Given the description of an element on the screen output the (x, y) to click on. 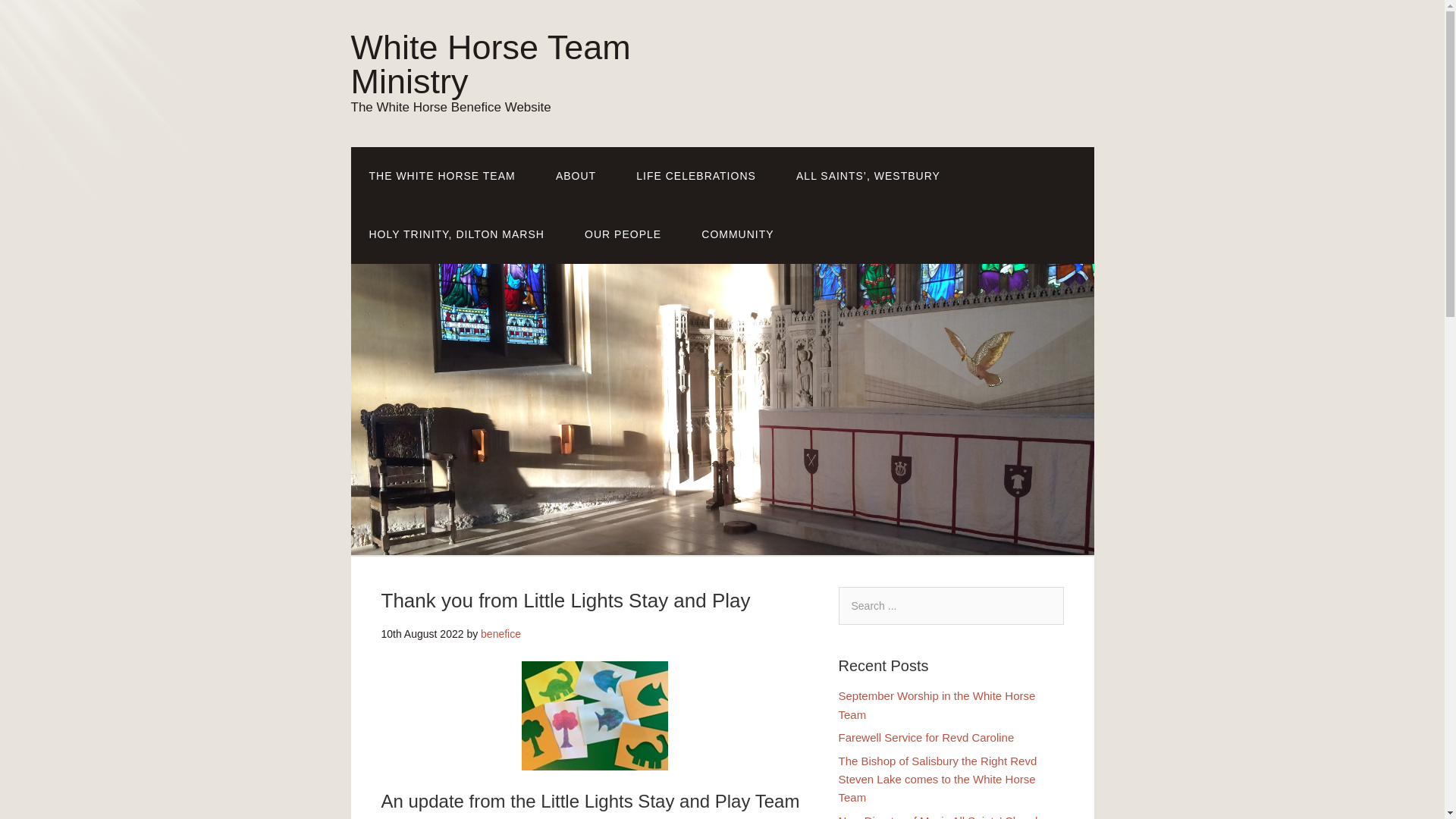
HOLY TRINITY, DILTON MARSH (456, 234)
OUR PEOPLE (622, 234)
White Horse Team Ministry (490, 63)
ABOUT (575, 176)
LIFE CELEBRATIONS (695, 176)
Search for: (951, 605)
White Horse Team Ministry (490, 63)
THE WHITE HORSE TEAM (441, 176)
